Given the description of an element on the screen output the (x, y) to click on. 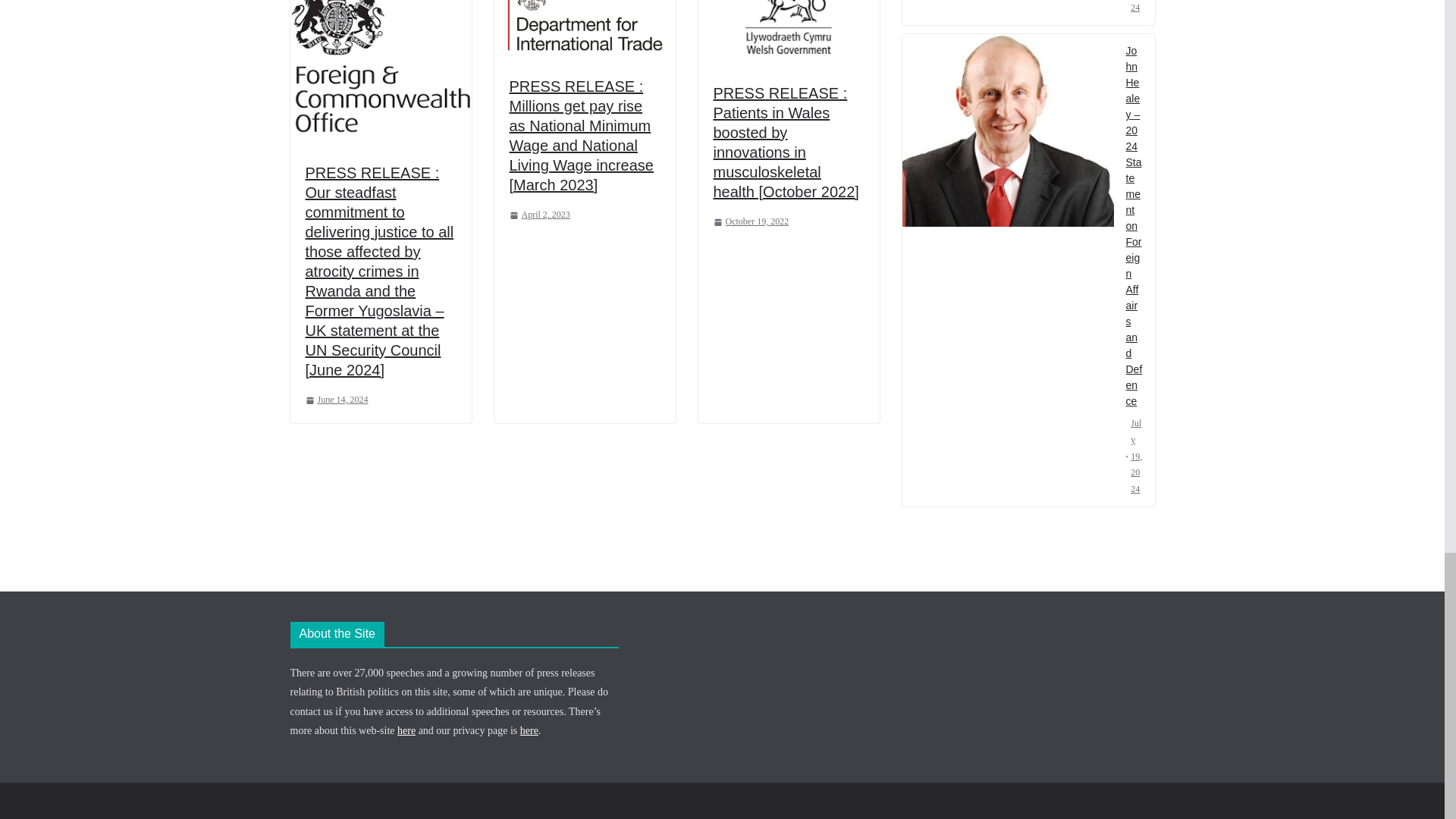
June 14, 2024 (336, 400)
10:59 am (336, 400)
